Given the description of an element on the screen output the (x, y) to click on. 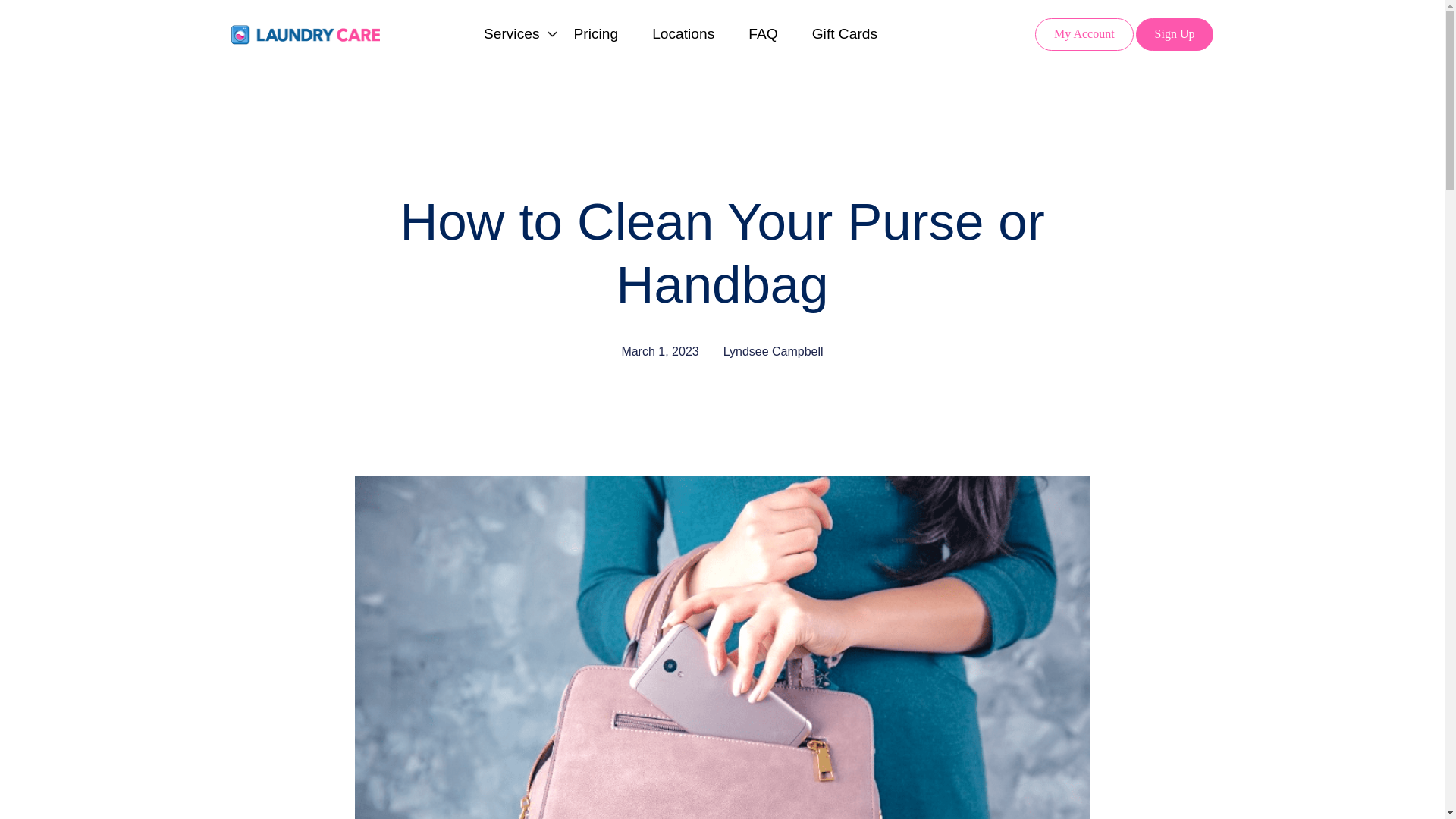
Services (511, 33)
Gift Cards (844, 33)
Pricing (595, 33)
My Account (1084, 34)
FAQ (762, 33)
March 1, 2023 (659, 352)
Sign Up (1174, 34)
Locations (683, 33)
Lyndsee Campbell (773, 352)
